Given the description of an element on the screen output the (x, y) to click on. 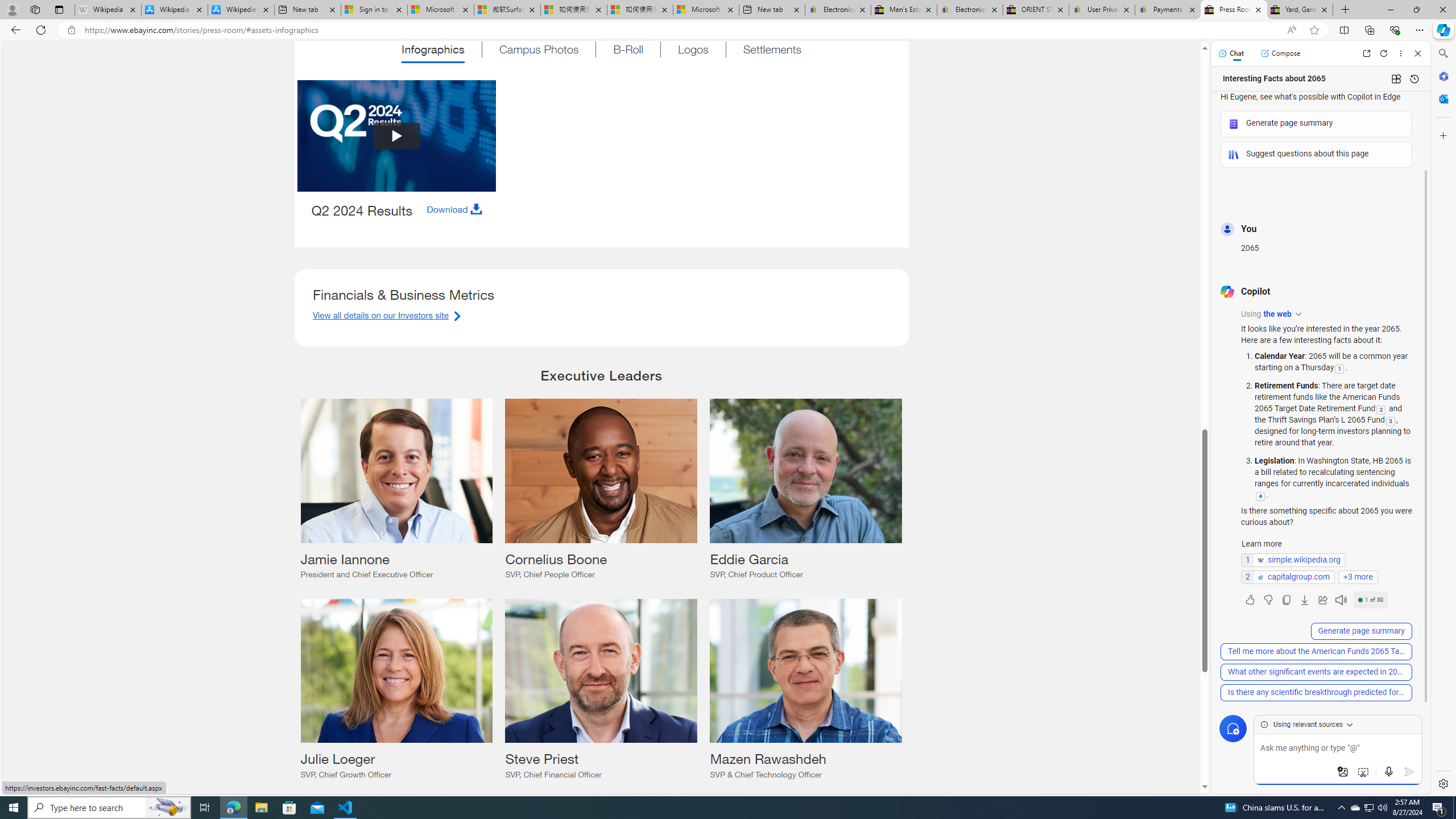
Chat (1231, 52)
